Given the description of an element on the screen output the (x, y) to click on. 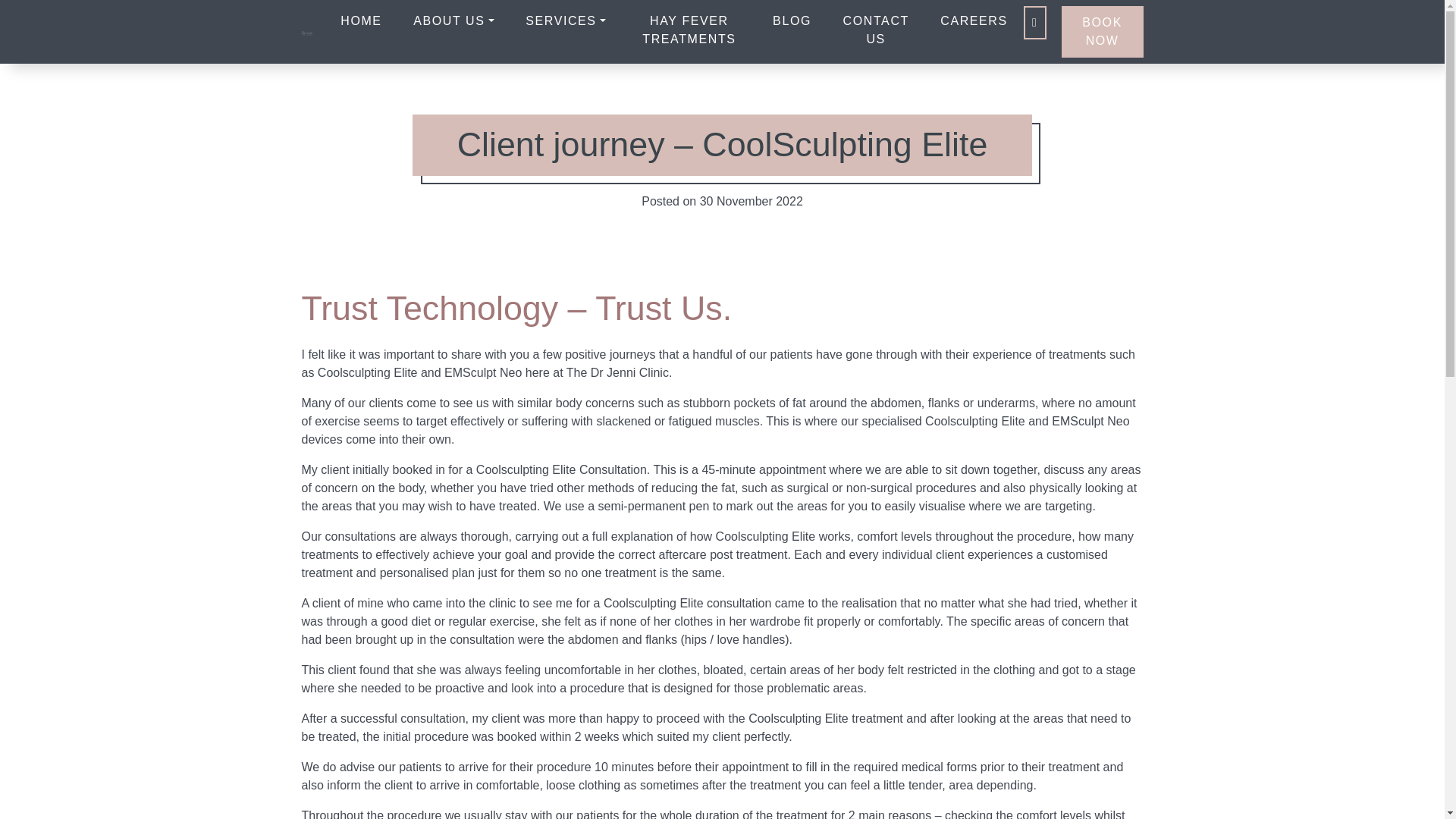
SERVICES (565, 20)
About Us (453, 20)
Services (565, 20)
HOME (360, 20)
Home (360, 20)
ABOUT US (453, 20)
